Given the description of an element on the screen output the (x, y) to click on. 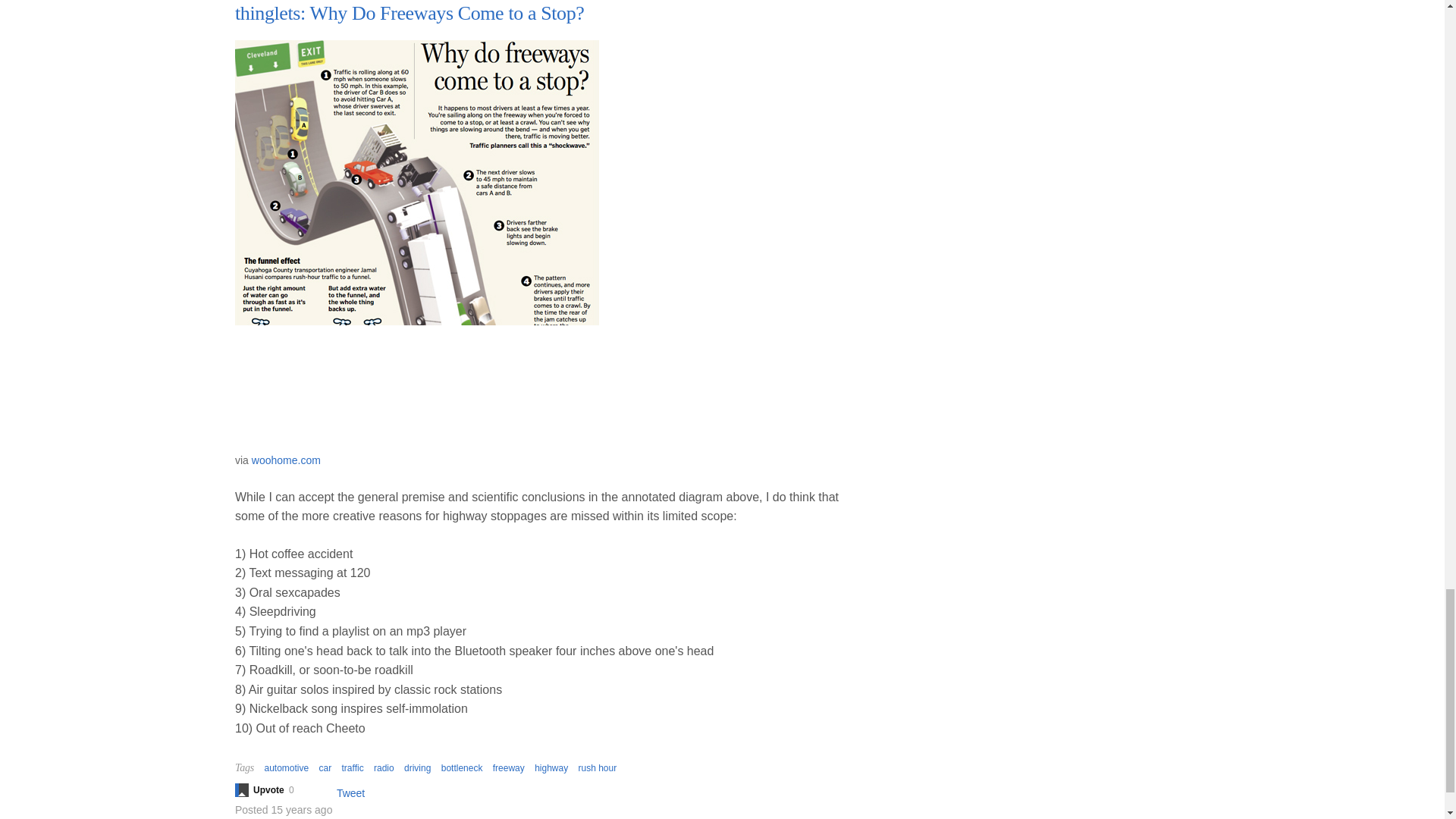
thinglets: Why Do Freeways Come to a Stop? (408, 13)
automotive (285, 767)
car (324, 767)
woohome.com (285, 460)
